Given the description of an element on the screen output the (x, y) to click on. 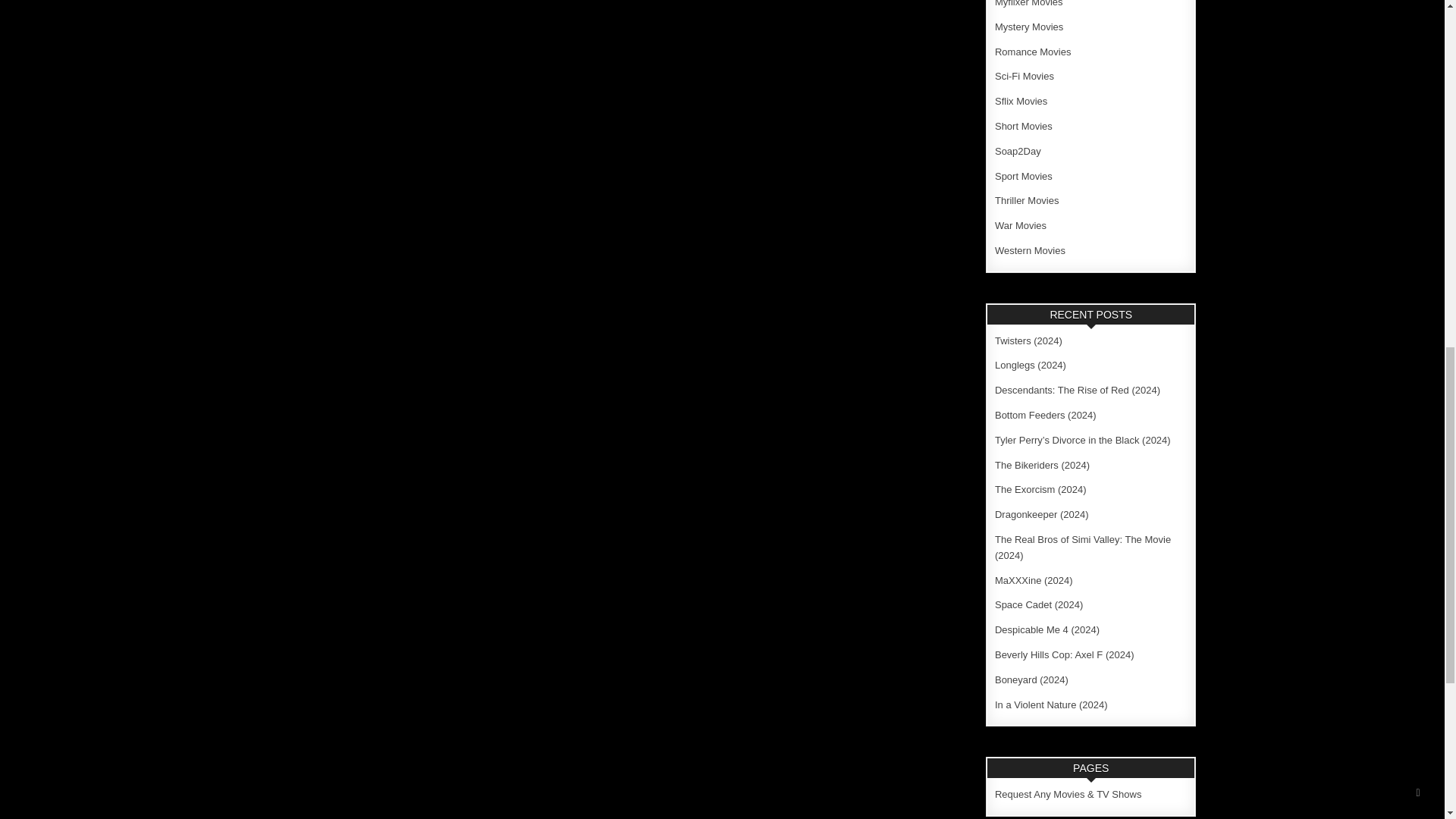
Myflixer Movies (1028, 3)
